Given the description of an element on the screen output the (x, y) to click on. 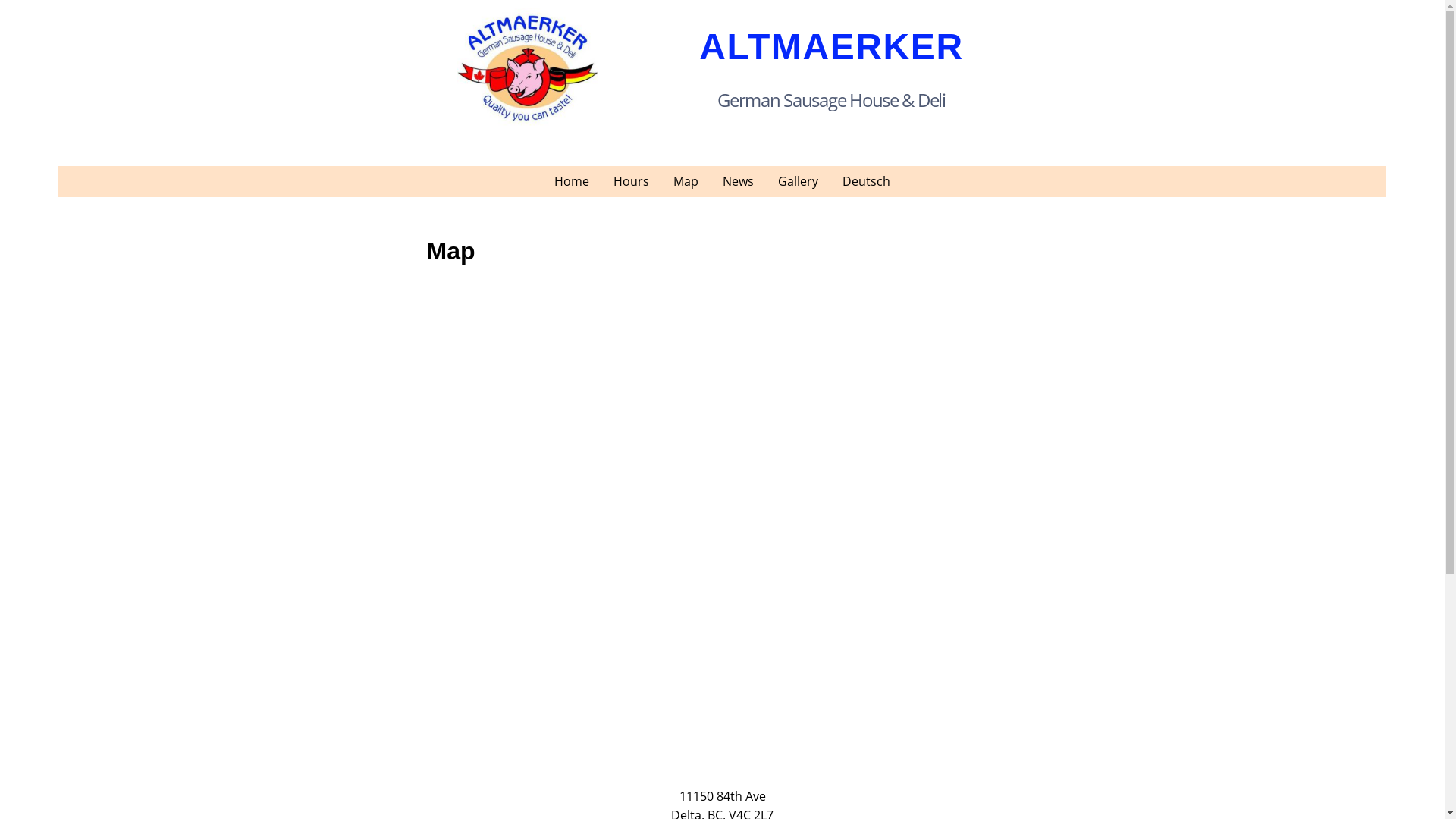
Hours Element type: text (631, 181)
Map Element type: text (685, 181)
Deutsch Element type: text (866, 181)
ALTMAERKER Element type: text (831, 46)
Gallery Element type: text (797, 181)
Home Element type: text (571, 181)
News Element type: text (737, 181)
